Given the description of an element on the screen output the (x, y) to click on. 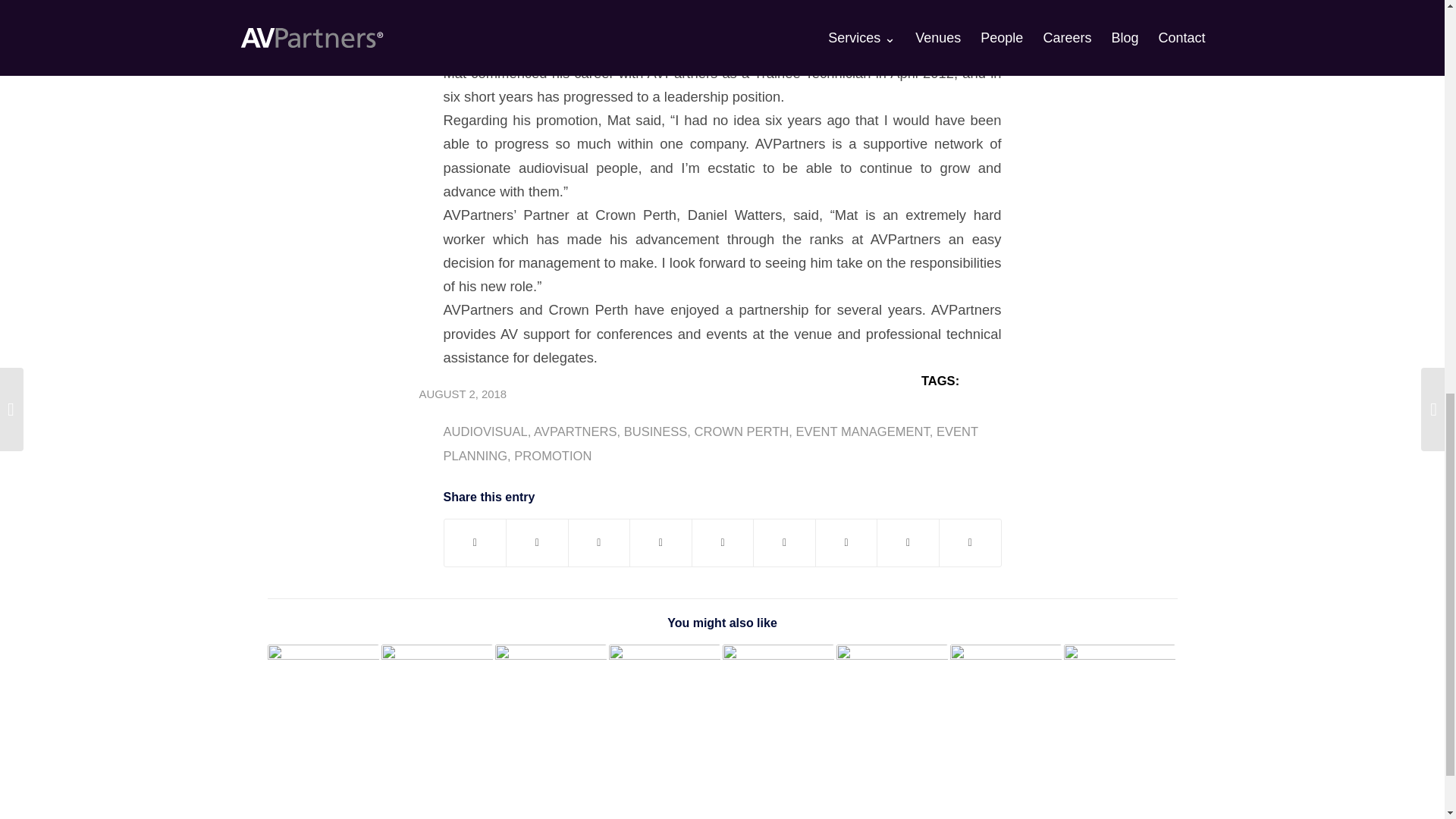
EVENT PLANNING (709, 443)
PROMOTION (552, 455)
AVPARTNERS (574, 431)
AUDIOVISUAL (484, 431)
EVENT MANAGEMENT (861, 431)
How technology can help you stay within your event budget (436, 676)
BUSINESS (655, 431)
CROWN PERTH (741, 431)
Face to Face: Brendon Biffin (322, 670)
